Given the description of an element on the screen output the (x, y) to click on. 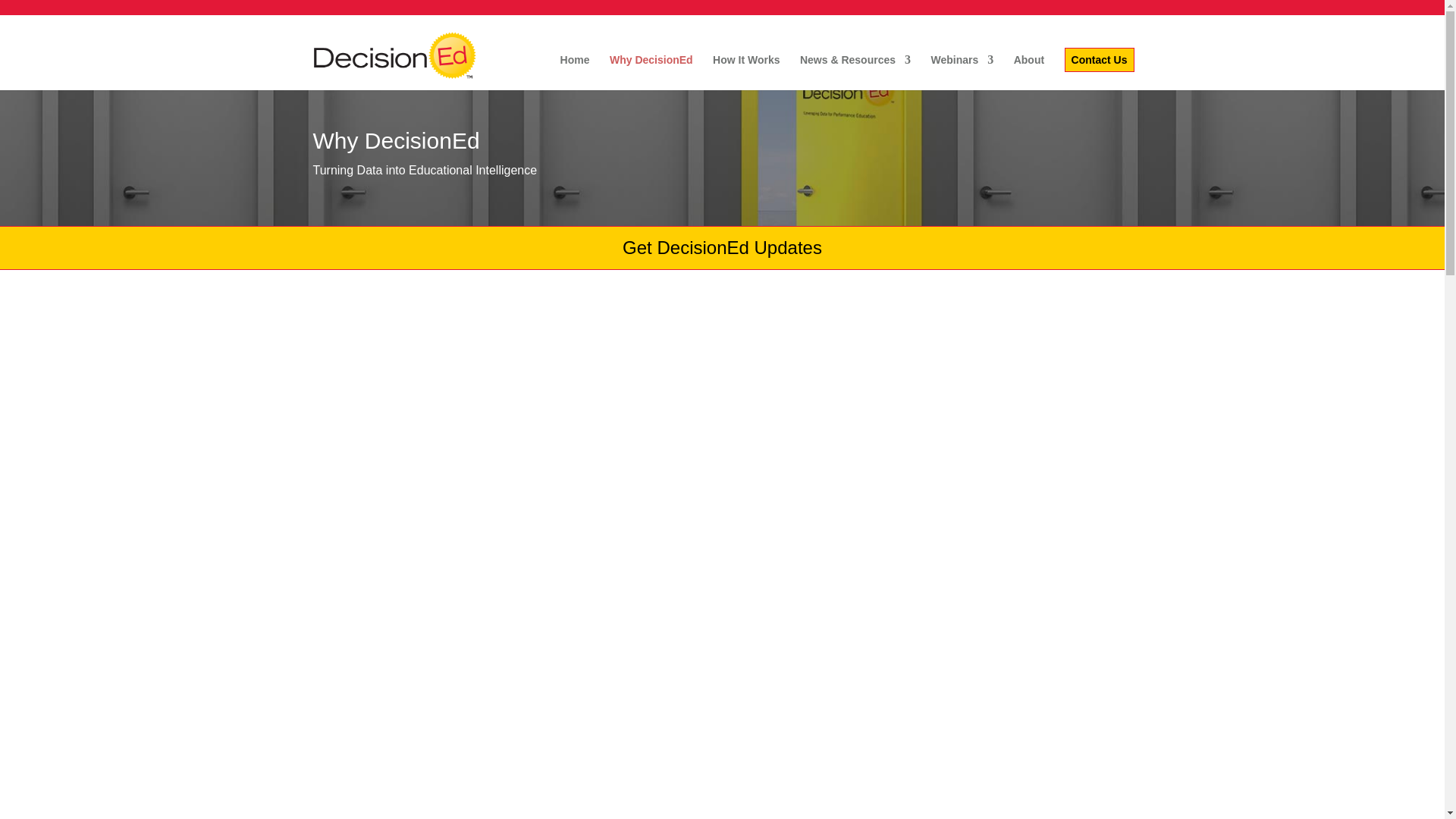
How It Works (745, 72)
Webinars (961, 72)
Get DecisionEd Updates (722, 247)
Why DecisionEd (651, 72)
Contact Us (1099, 59)
